Given the description of an element on the screen output the (x, y) to click on. 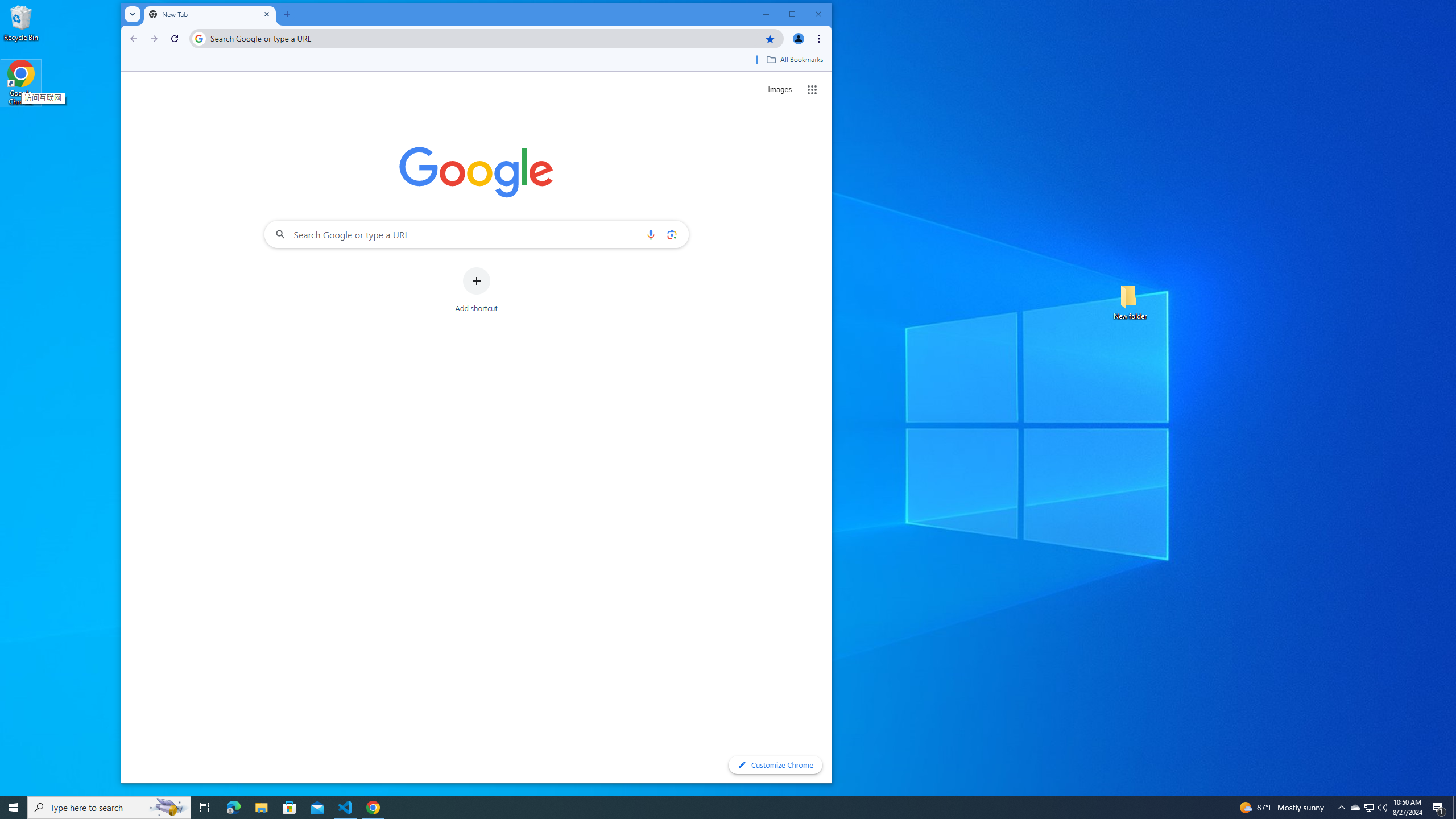
Google Chrome (21, 82)
New folder (1130, 301)
Recycle Bin (21, 22)
